Given the description of an element on the screen output the (x, y) to click on. 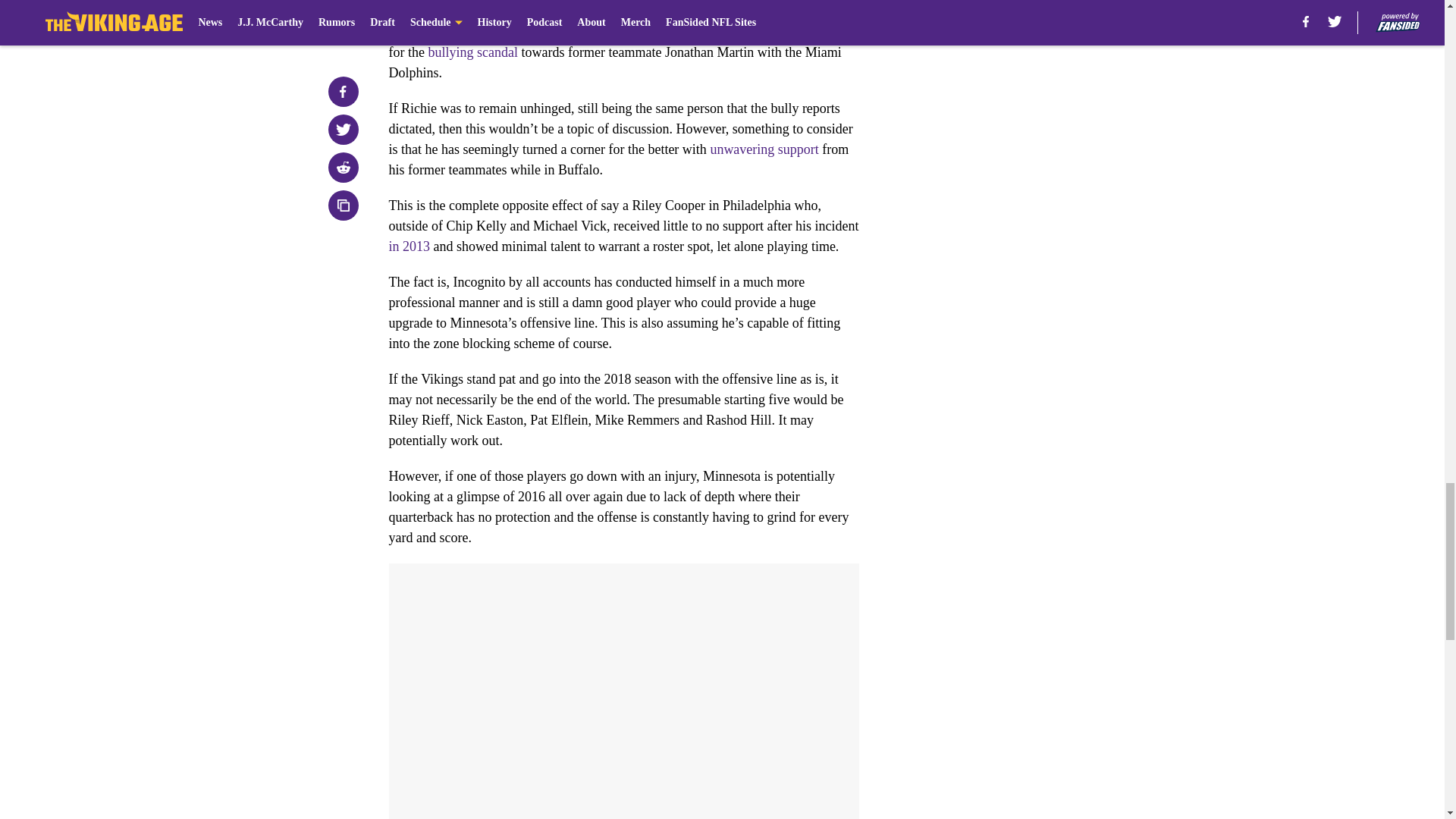
bullying scandal (472, 52)
in 2013 (408, 246)
unwavering support (764, 149)
